Given the description of an element on the screen output the (x, y) to click on. 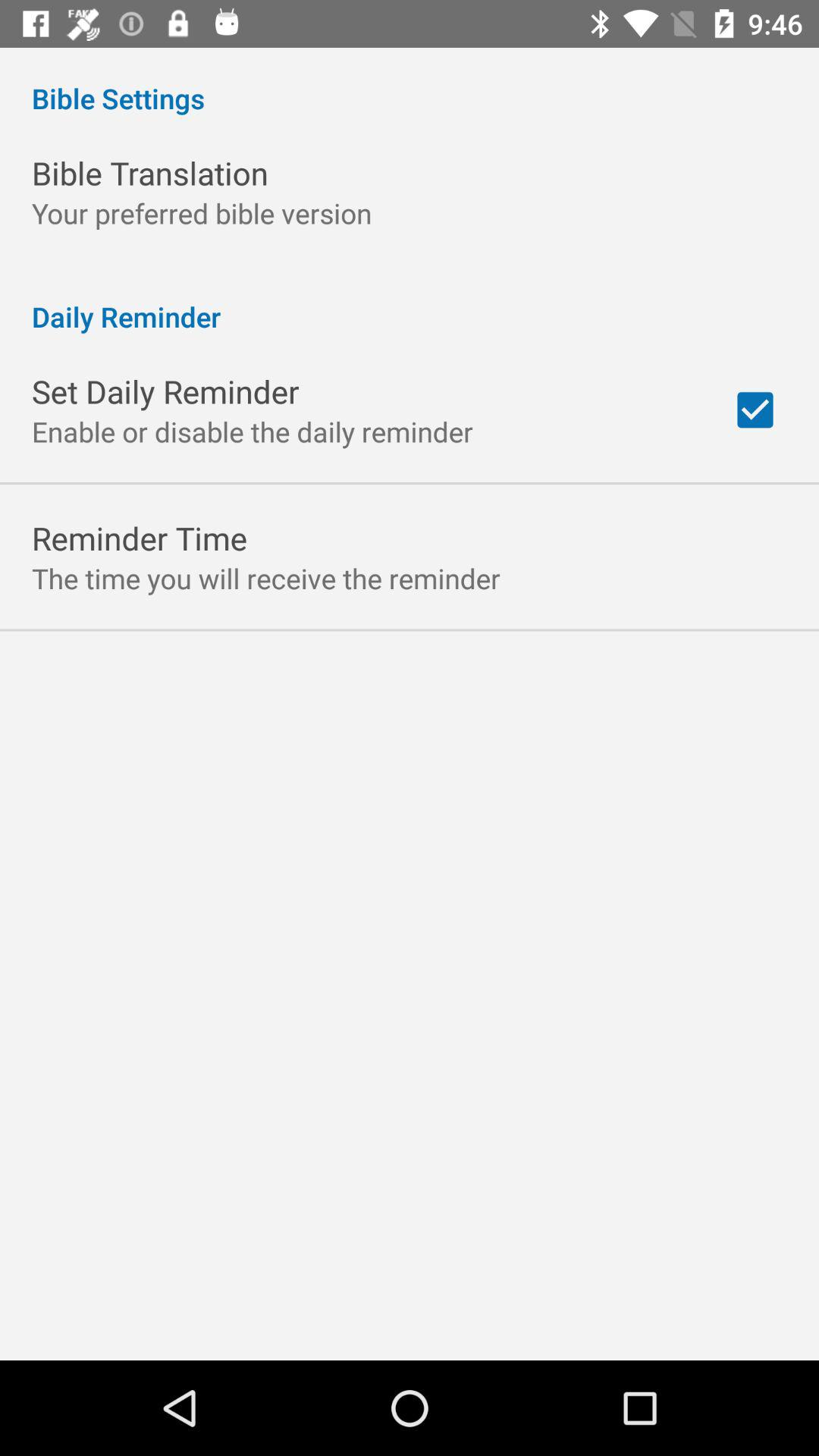
turn off item below daily reminder item (755, 409)
